Given the description of an element on the screen output the (x, y) to click on. 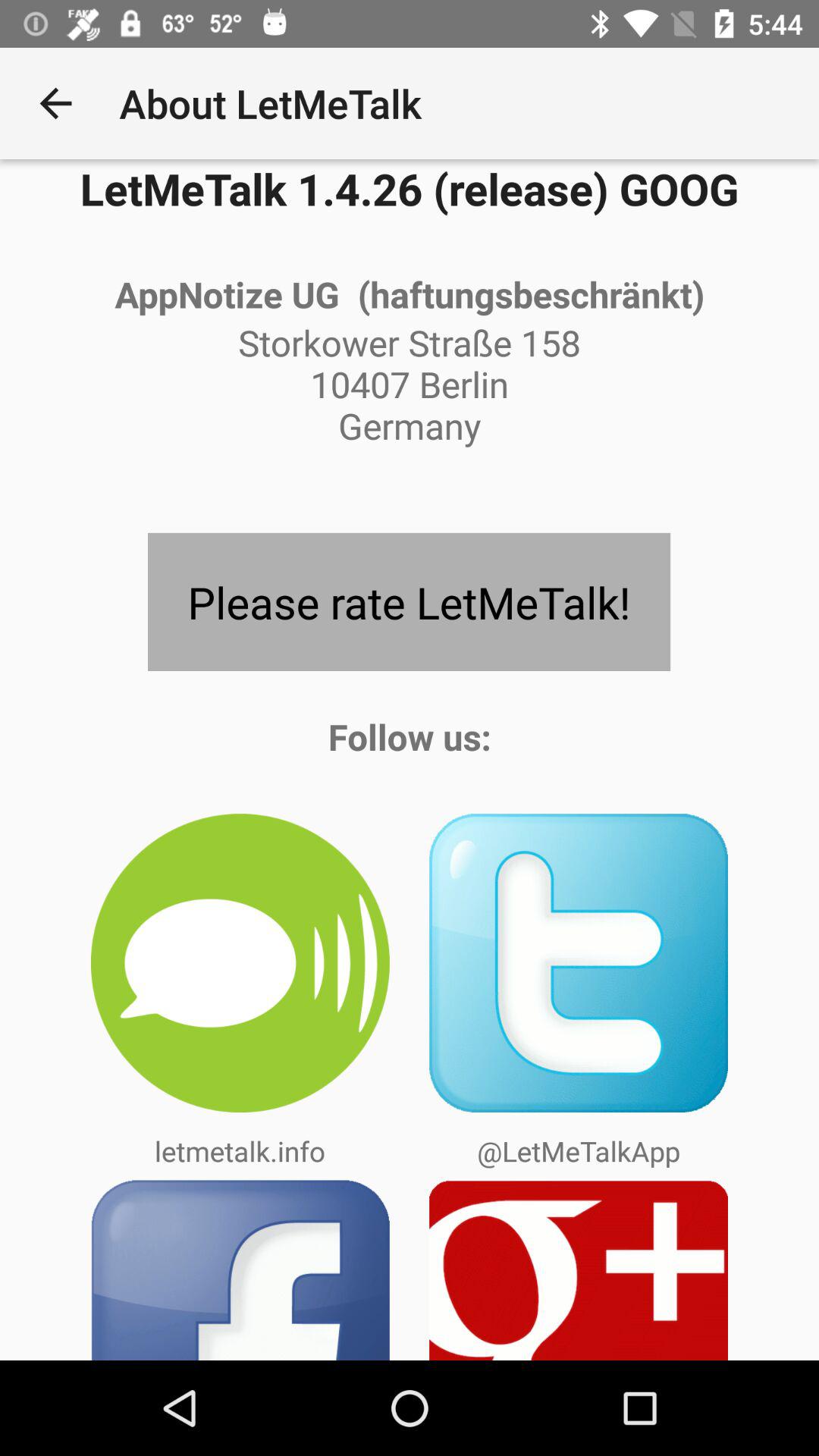
follow letmetalk on google+ (578, 1269)
